Given the description of an element on the screen output the (x, y) to click on. 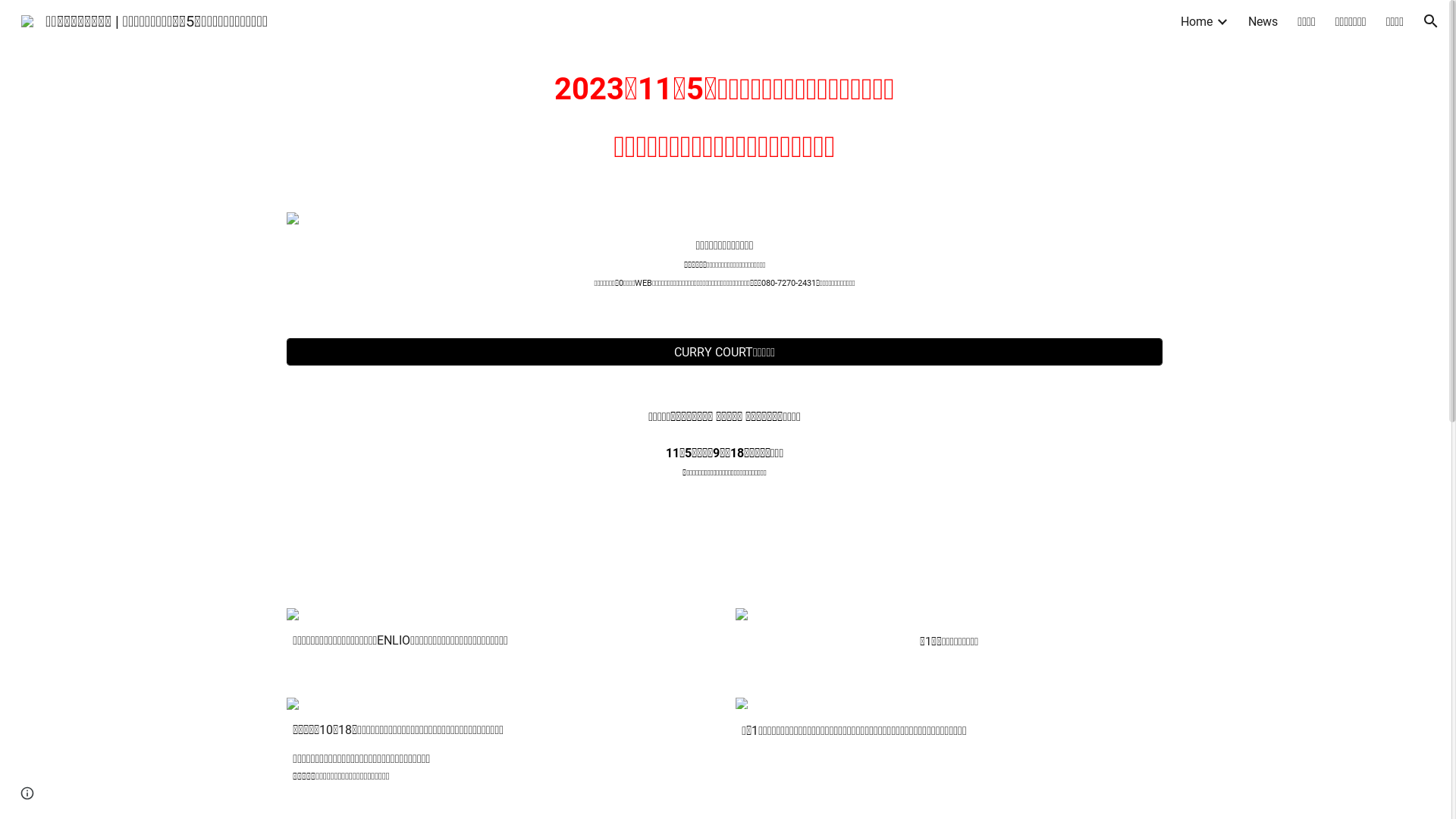
News Element type: text (1262, 20)
Home Element type: text (1196, 20)
Expand/Collapse Element type: hover (1221, 20)
